Given the description of an element on the screen output the (x, y) to click on. 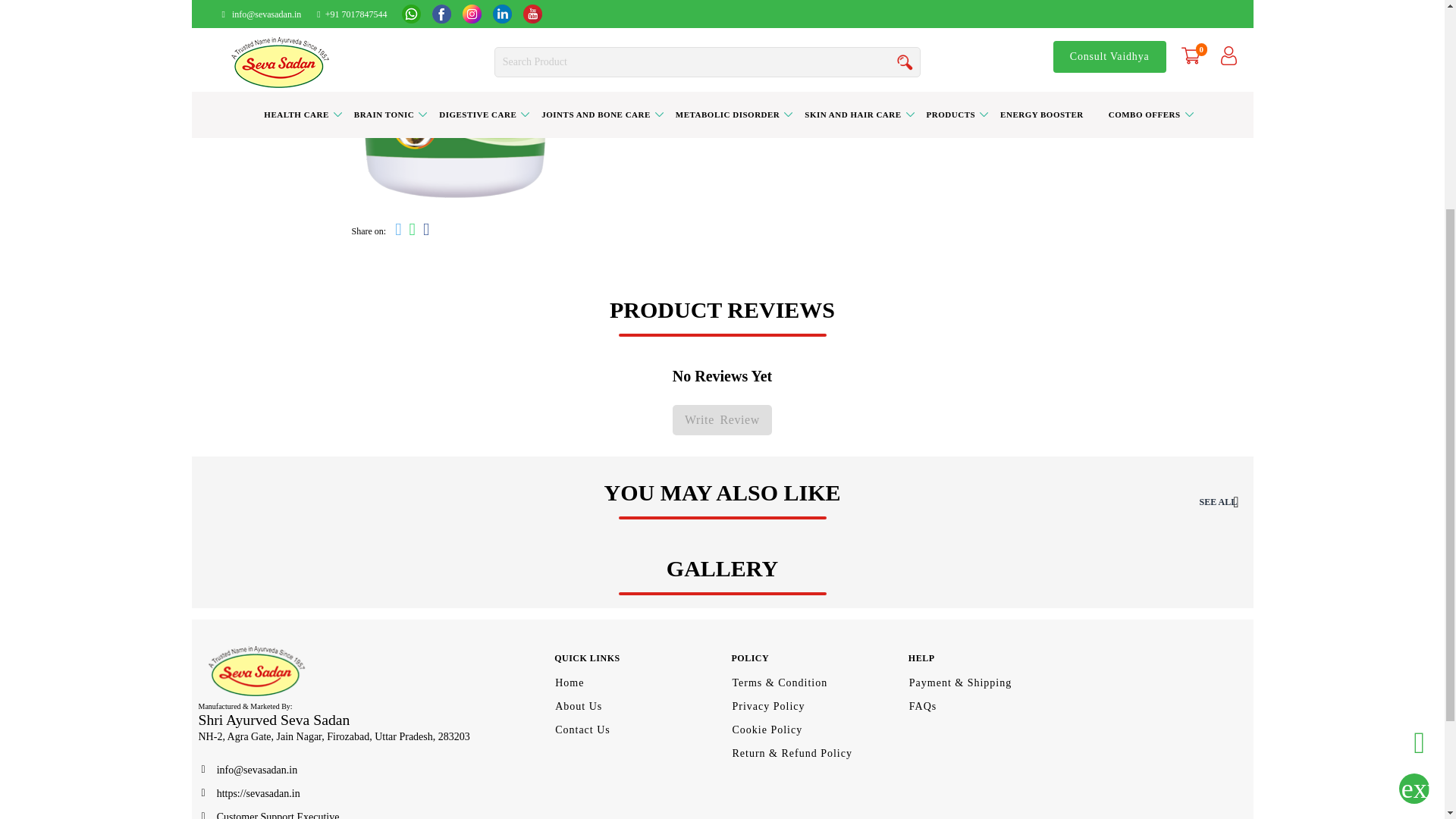
Facebook Share (425, 231)
Twitter Share (397, 231)
WhatsApp Share (412, 231)
1 (738, 30)
